Given the description of an element on the screen output the (x, y) to click on. 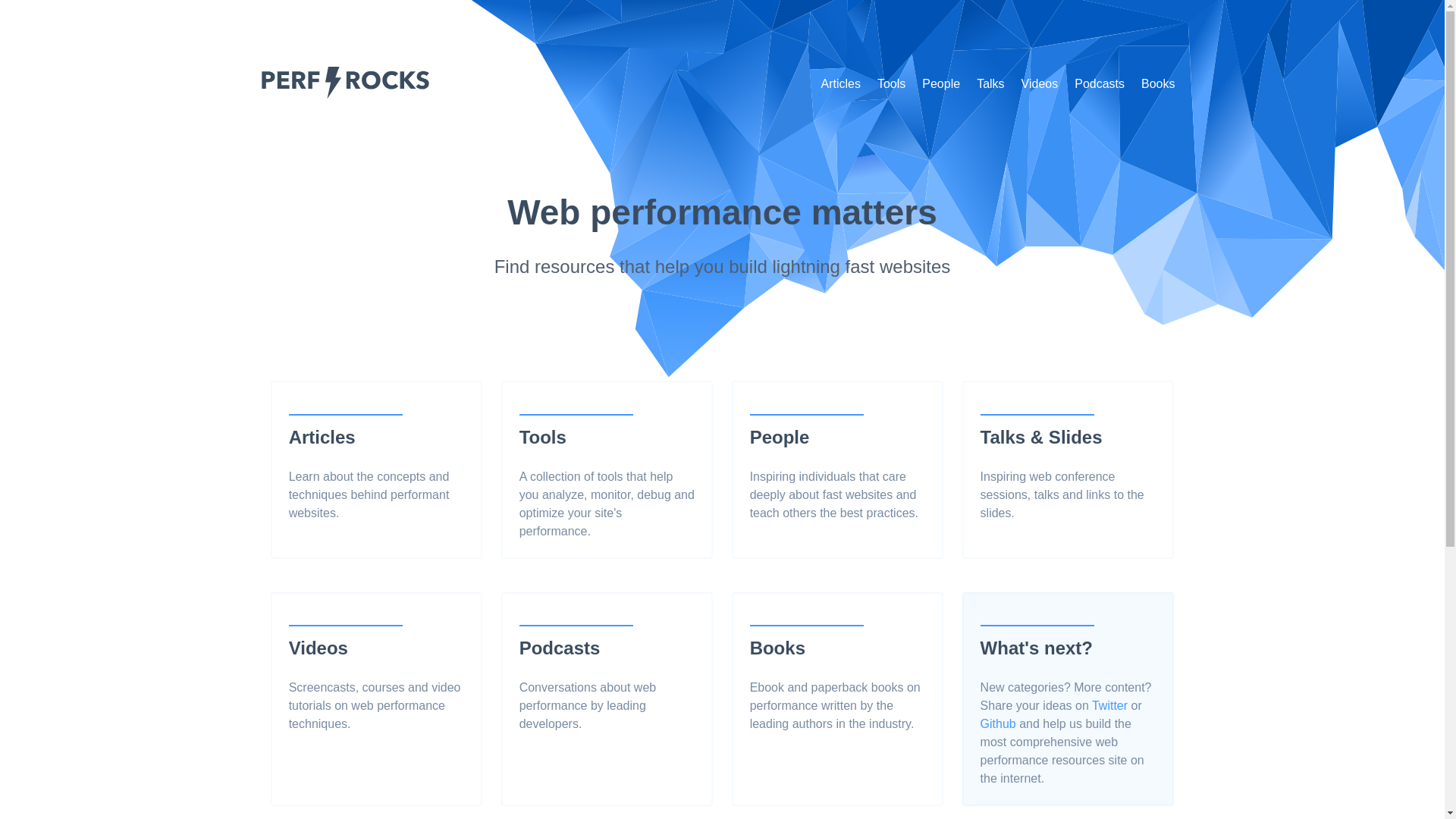
Articles on web performance (839, 83)
Books on web performance (1157, 83)
A list of web performance optimization books (837, 678)
Podcasts and audio guides on web performance (1098, 83)
A list of web performance optimization articles (376, 468)
Articles (839, 83)
Perf Rocks: front-end performance optimization resources (344, 94)
Talks on web performance (989, 83)
Screencasts and video tutorials on web performance (1040, 83)
Books (1157, 83)
